Given the description of an element on the screen output the (x, y) to click on. 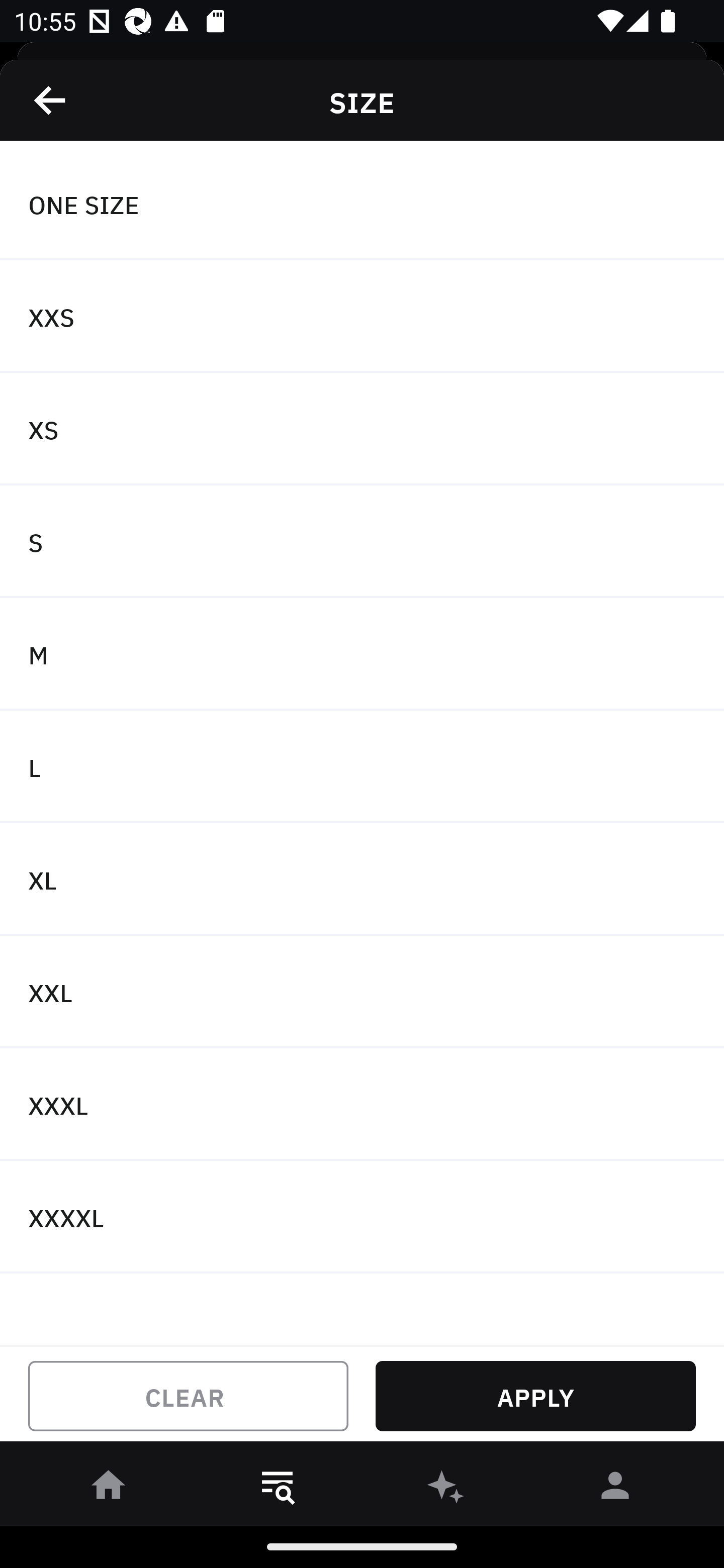
 (50, 100)
ONE SIZE (362, 203)
XXS (362, 316)
XS (362, 429)
S (362, 541)
M (362, 653)
L (362, 766)
XL (362, 879)
XXL (362, 992)
XXXL (362, 1104)
XXXXL (362, 1216)
CLEAR  (188, 1396)
APPLY (535, 1396)
󰋜 (108, 1488)
󱎸 (277, 1488)
󰫢 (446, 1488)
󰀄 (615, 1488)
